Given the description of an element on the screen output the (x, y) to click on. 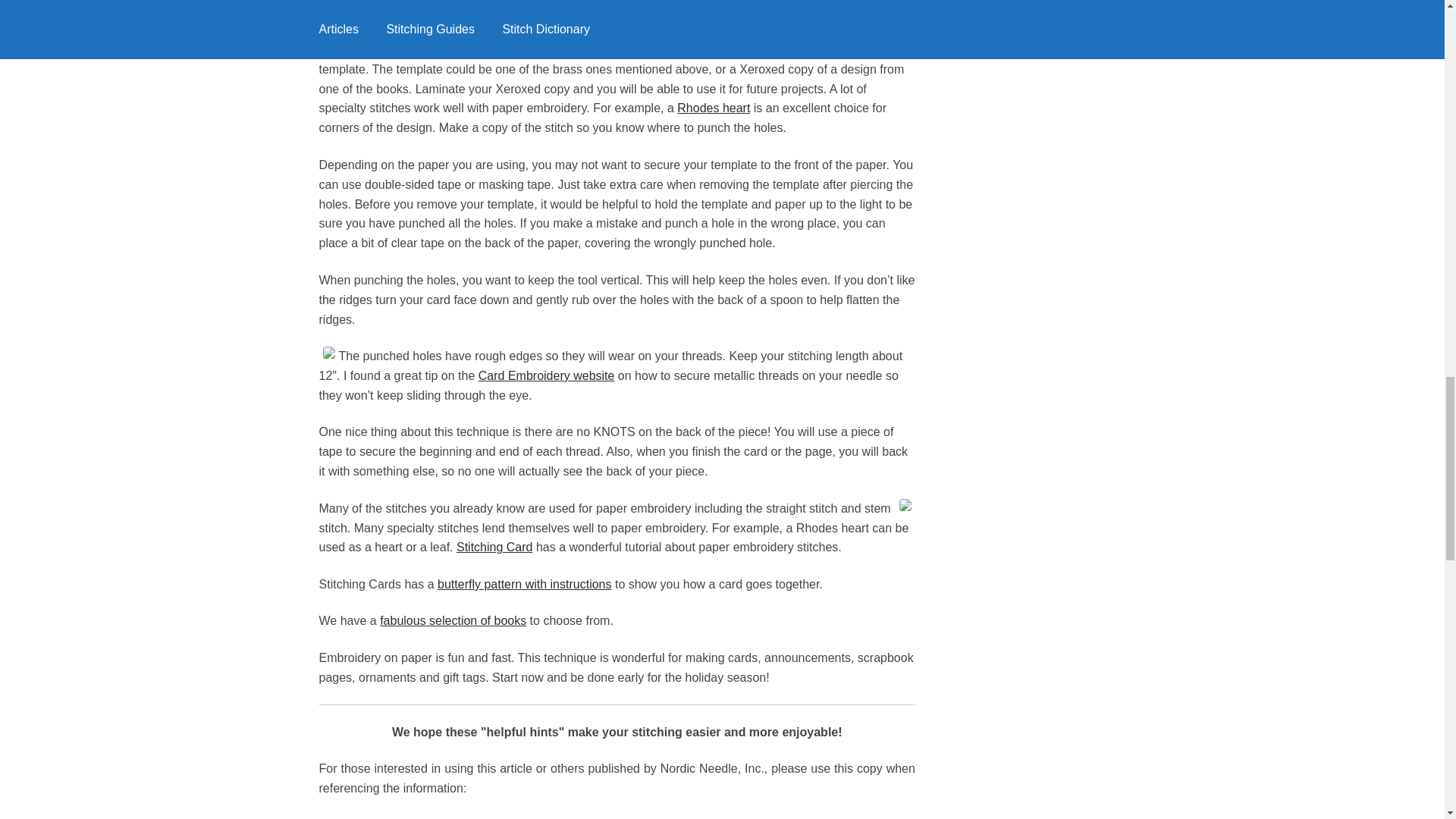
butterfly pattern with instructions (524, 584)
Rhodes heart (713, 107)
Card Embroidery website (546, 375)
Stitching Card (494, 546)
fabulous selection of books (452, 620)
